Given the description of an element on the screen output the (x, y) to click on. 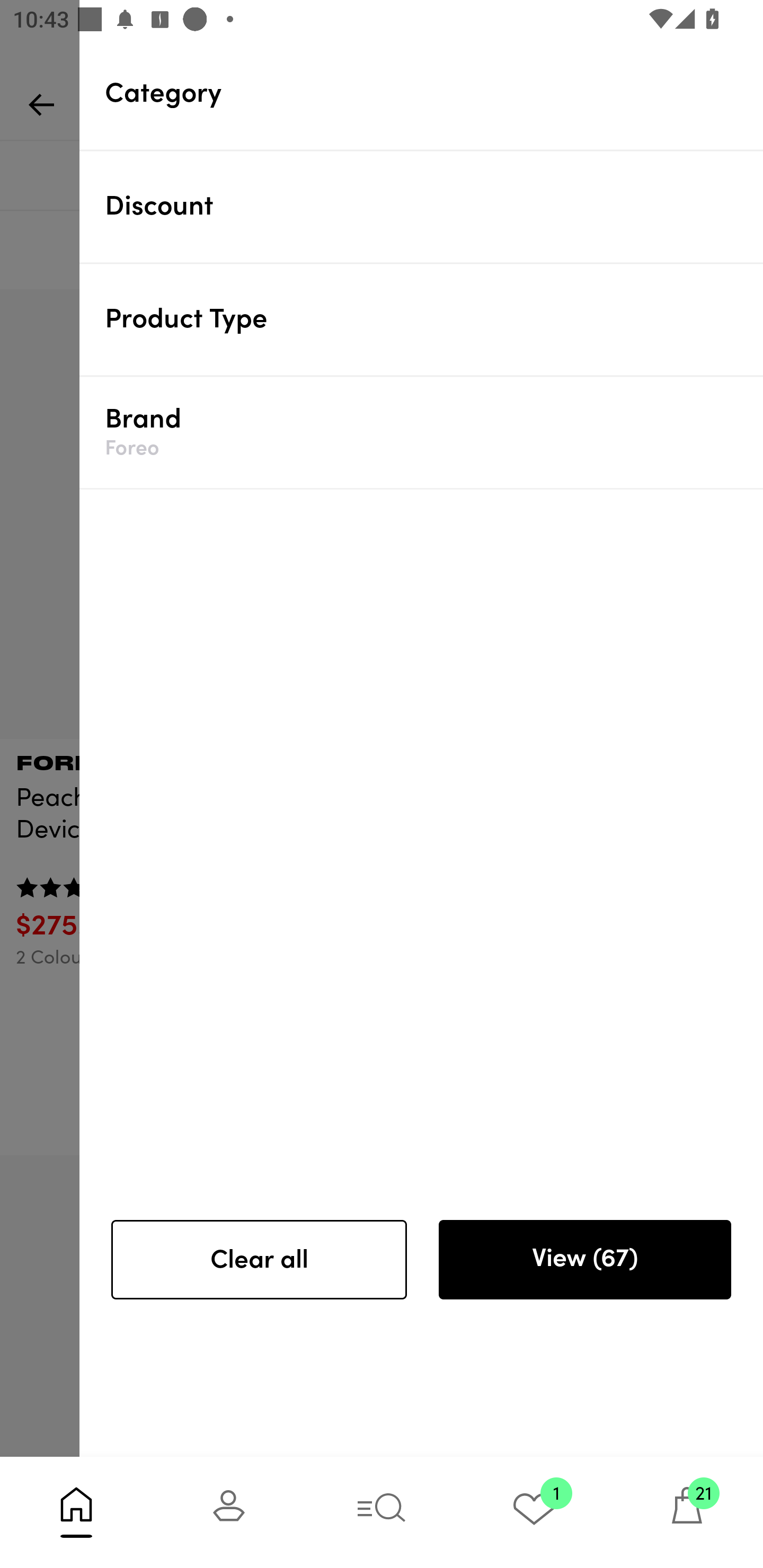
Category (434, 92)
Discount (434, 205)
Product Type (434, 318)
Brand Foreo (434, 431)
Clear all (258, 1259)
View (67) (584, 1259)
1 (533, 1512)
21 (686, 1512)
